Given the description of an element on the screen output the (x, y) to click on. 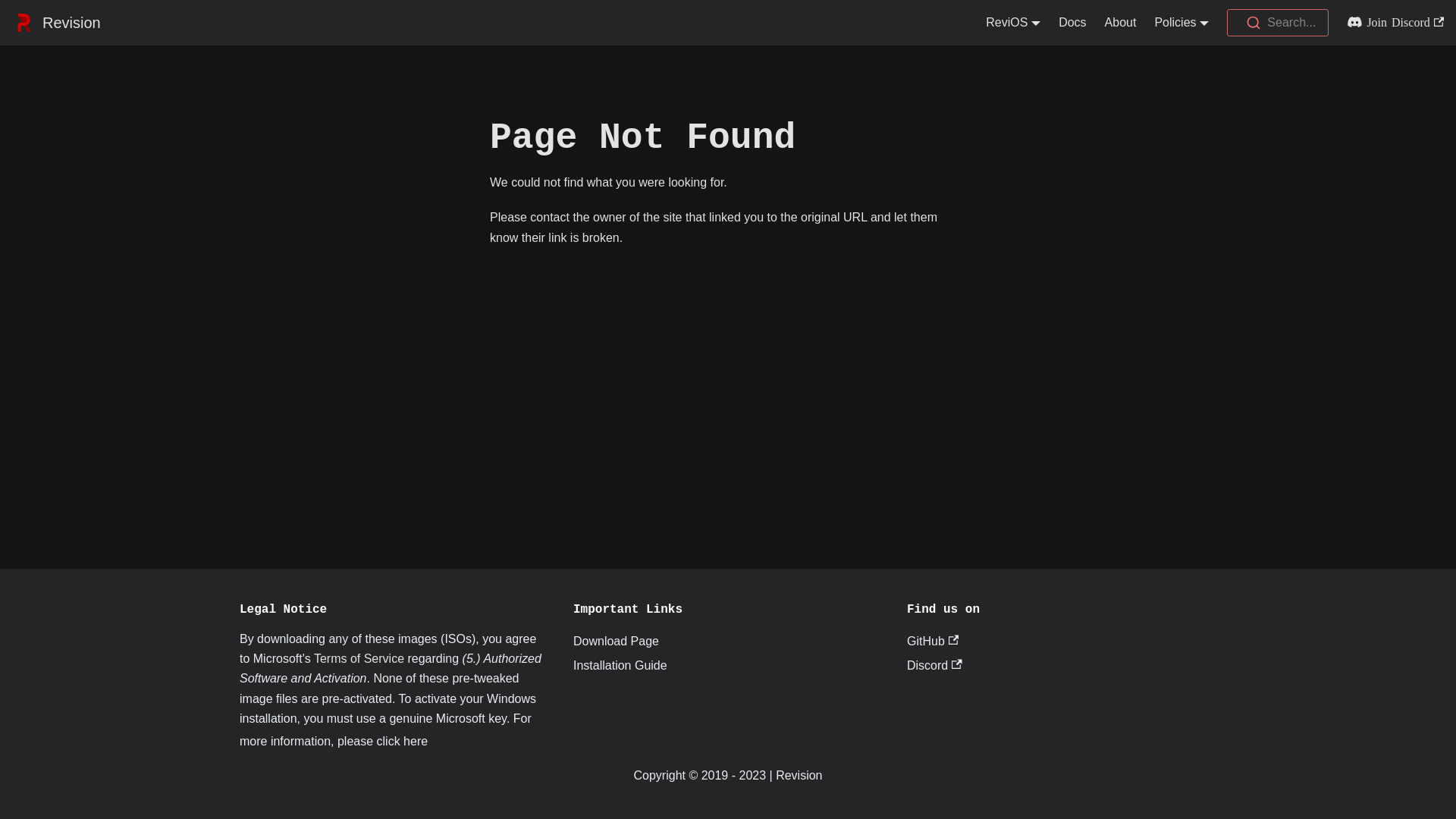
Discord Element type: text (934, 664)
here Element type: text (415, 740)
Download Page Element type: text (615, 640)
Terms of Service Element type: text (358, 658)
Revision Element type: text (56, 22)
Docs Element type: text (1072, 22)
ReviOS Element type: text (1012, 21)
Search... Element type: text (1277, 22)
Policies Element type: text (1181, 21)
Installation Guide Element type: text (620, 664)
Join Discord Element type: text (1390, 22)
About Element type: text (1120, 22)
GitHub Element type: text (932, 640)
